Given the description of an element on the screen output the (x, y) to click on. 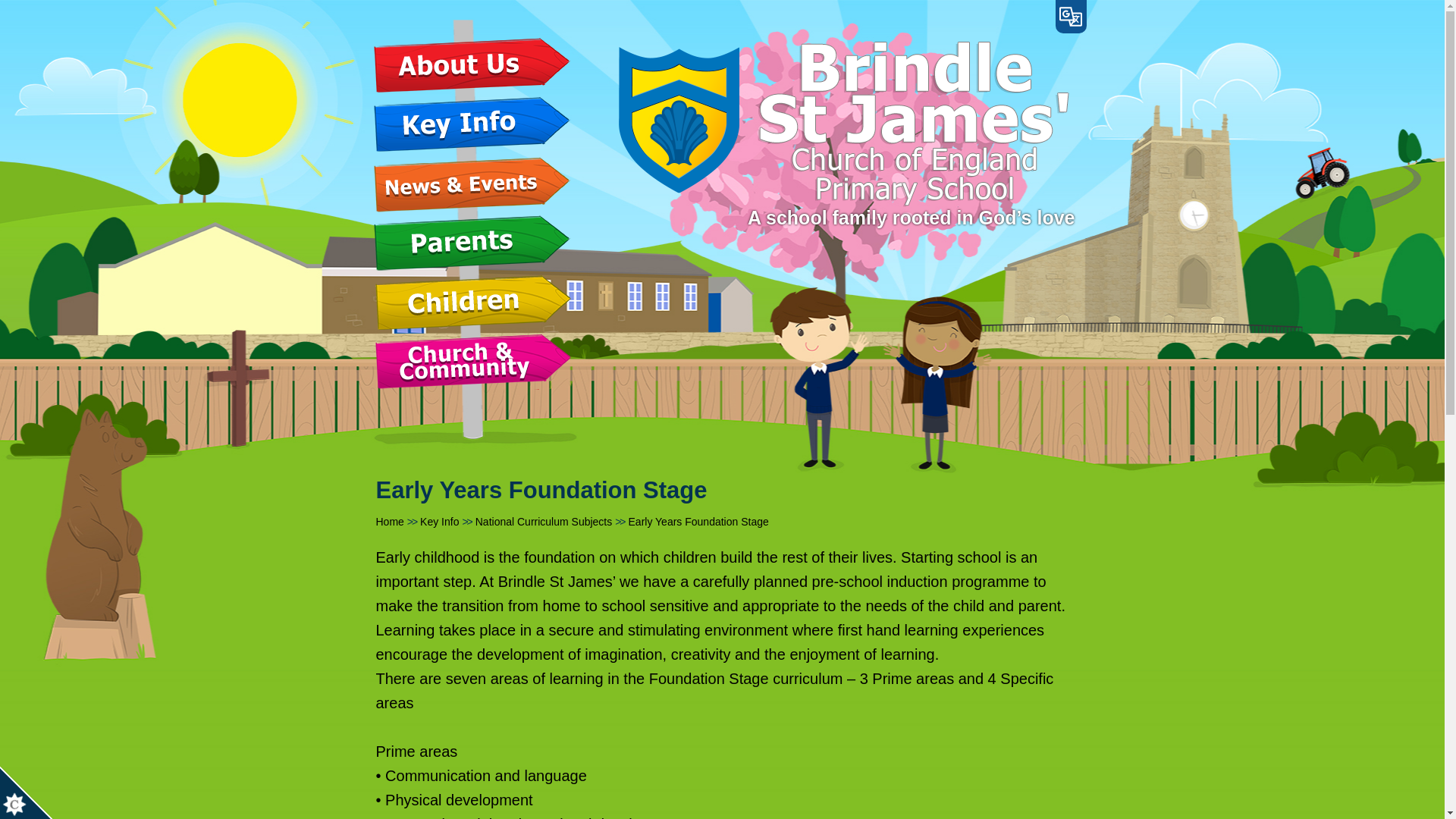
About Us (471, 65)
Home (842, 123)
Key Info (471, 125)
Google Translate (1070, 16)
Home Page (842, 123)
